Given the description of an element on the screen output the (x, y) to click on. 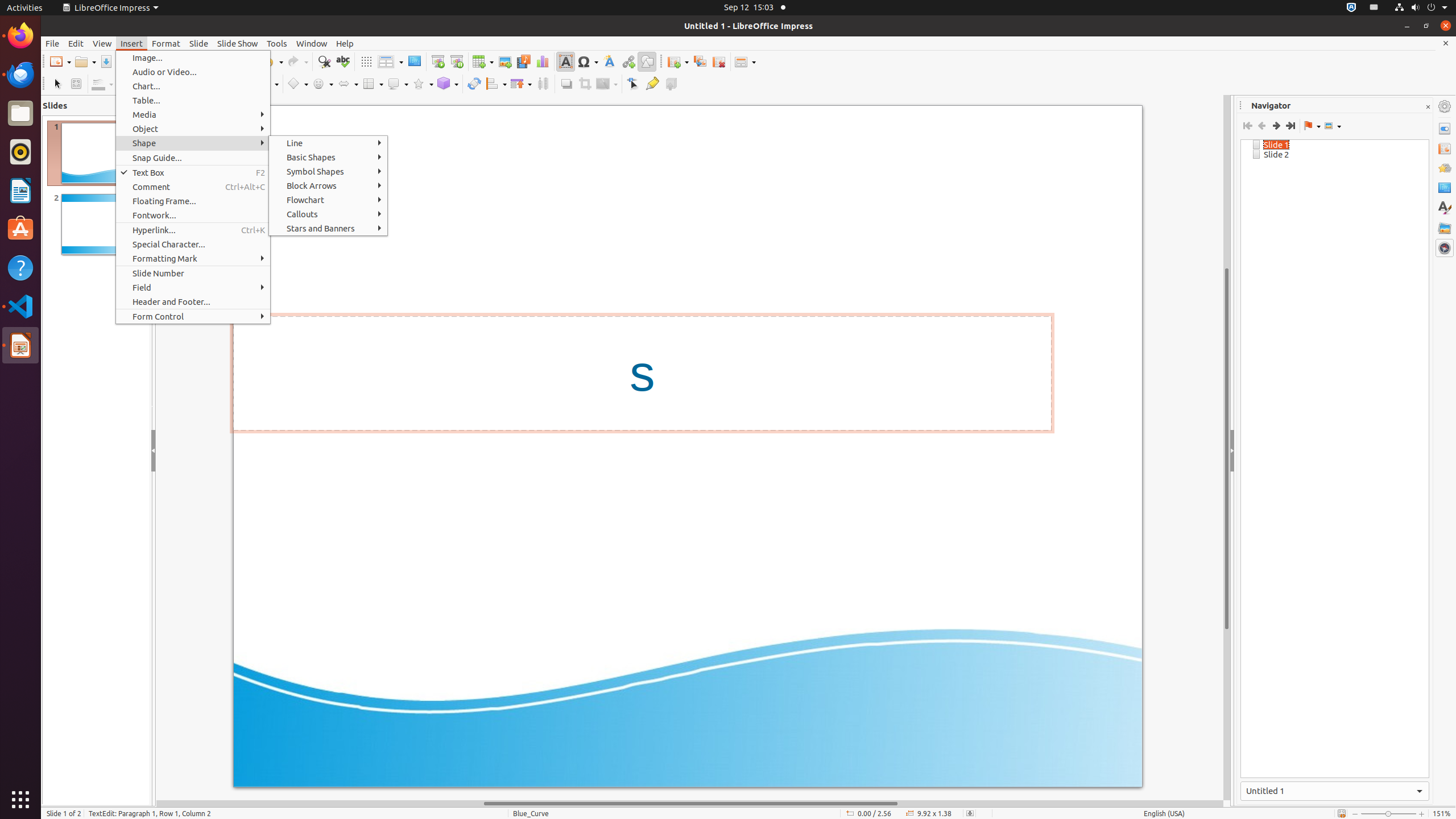
Master Slides Element type: radio-button (1444, 188)
Fontwork... Element type: menu-item (193, 215)
Slide Element type: menu (198, 43)
Ubuntu Software Element type: push-button (20, 229)
Select Element type: push-button (56, 83)
